Given the description of an element on the screen output the (x, y) to click on. 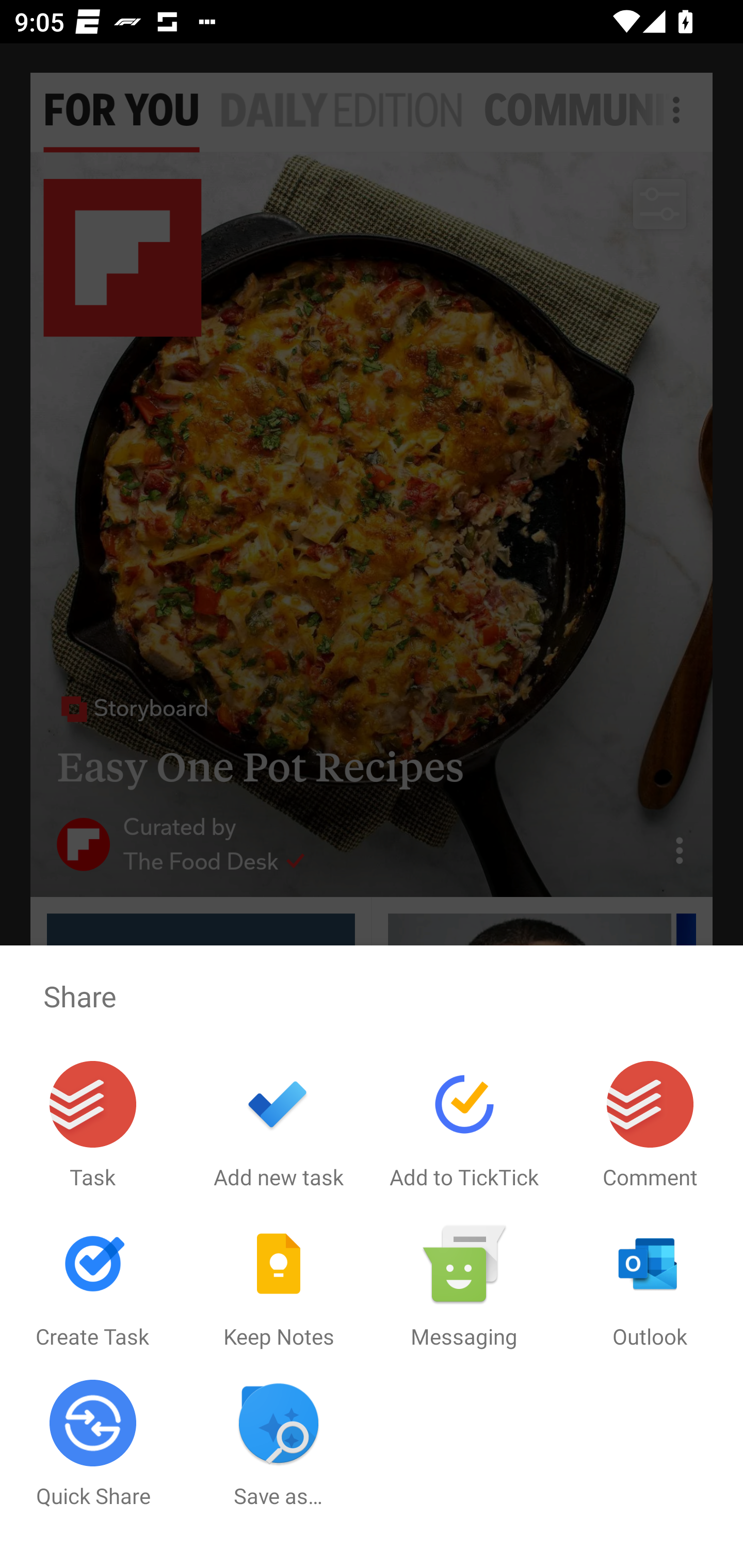
Task (92, 1125)
Add new task (278, 1125)
Add to TickTick (464, 1125)
Comment (650, 1125)
Create Task (92, 1285)
Keep Notes (278, 1285)
Messaging (464, 1285)
Outlook (650, 1285)
Quick Share (92, 1444)
Save as… (278, 1444)
